Given the description of an element on the screen output the (x, y) to click on. 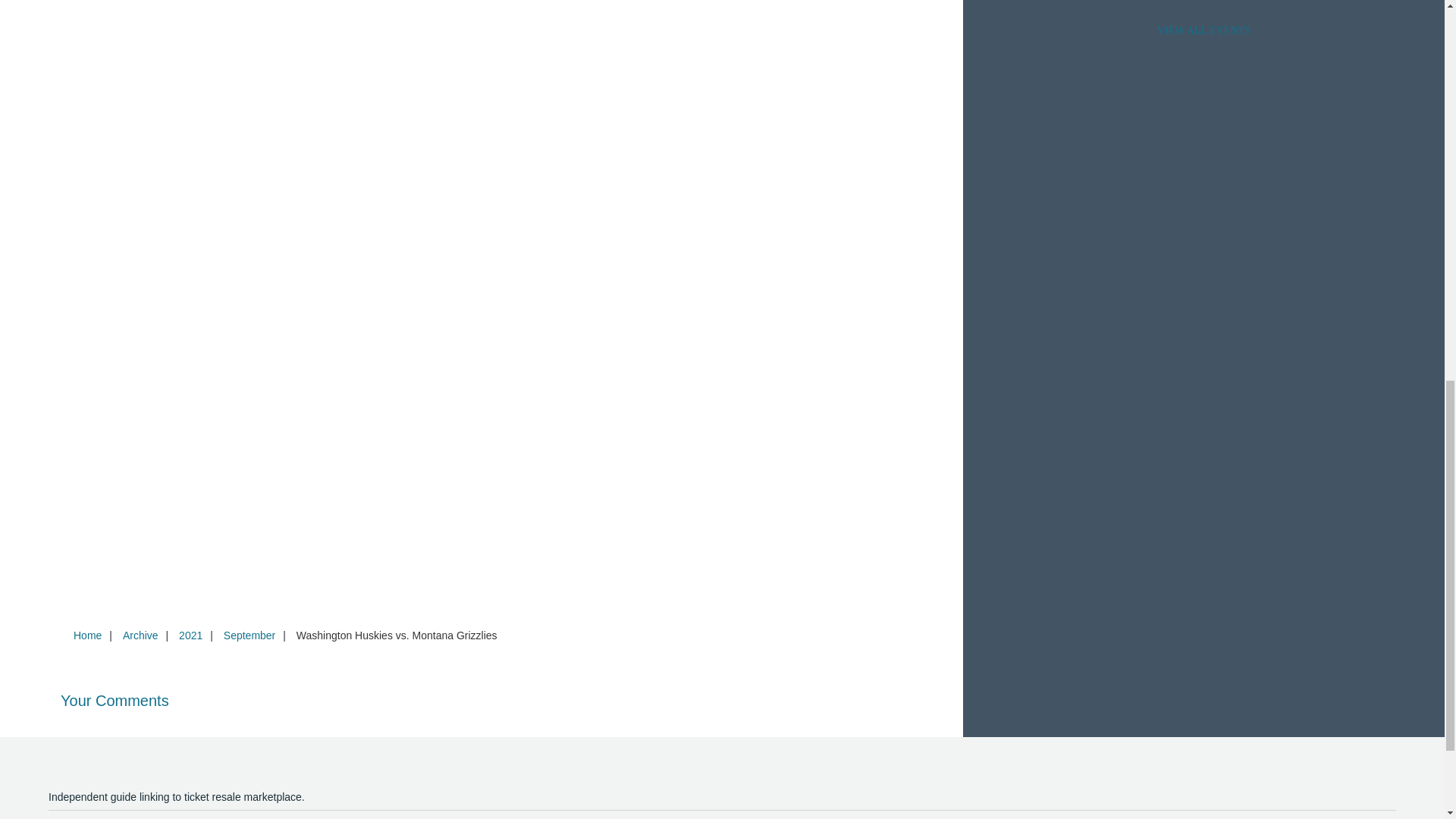
2021 (190, 635)
VIEW ALL EVENTS (1203, 30)
Home (87, 635)
September (248, 635)
Archive (140, 635)
